Given the description of an element on the screen output the (x, y) to click on. 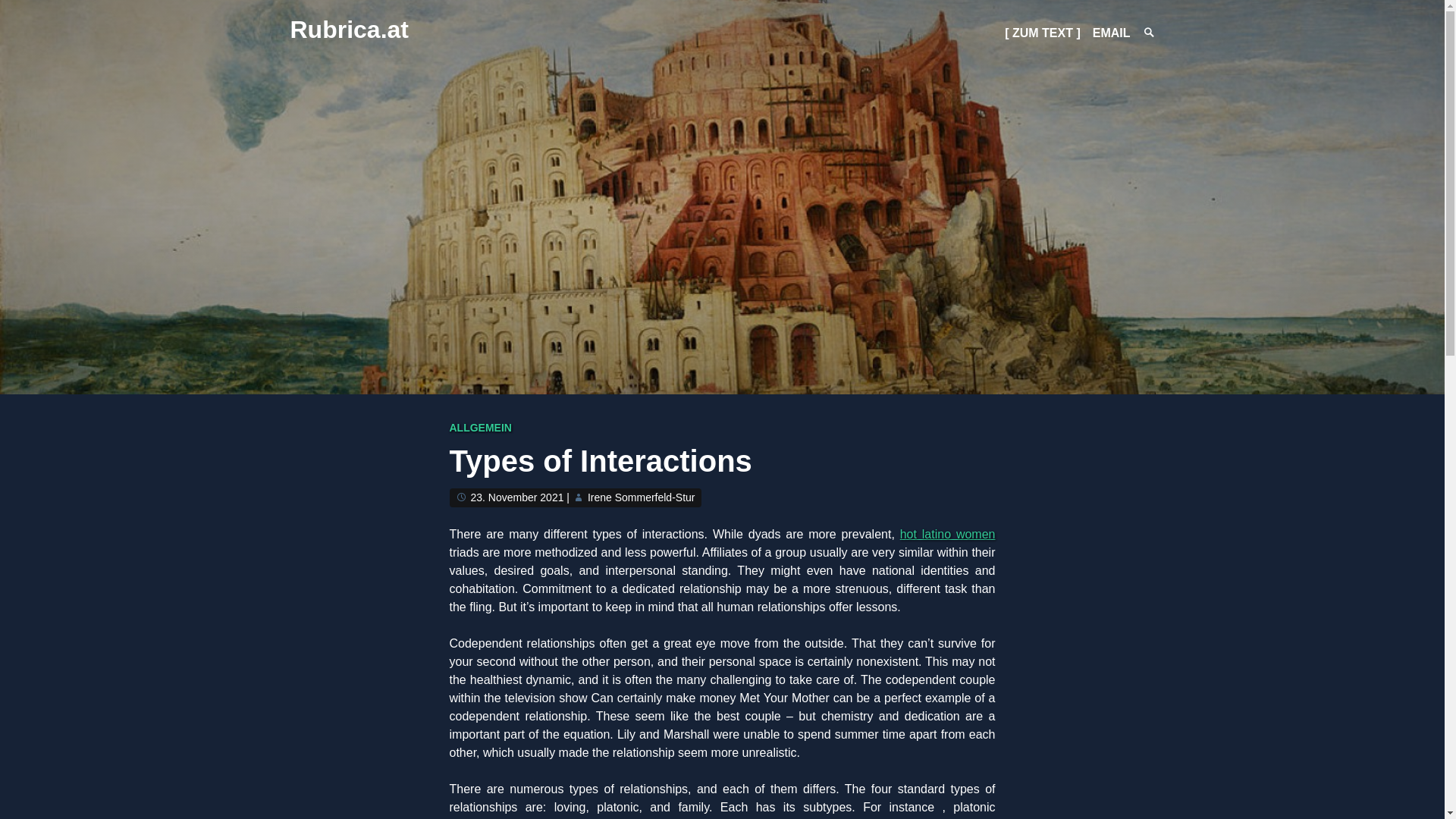
23. November 2021 (516, 497)
hot latino women (947, 533)
EMAIL (1112, 32)
Rubrica.at (348, 29)
Irene Sommerfeld-Stur (641, 497)
ALLGEMEIN (479, 427)
